Given the description of an element on the screen output the (x, y) to click on. 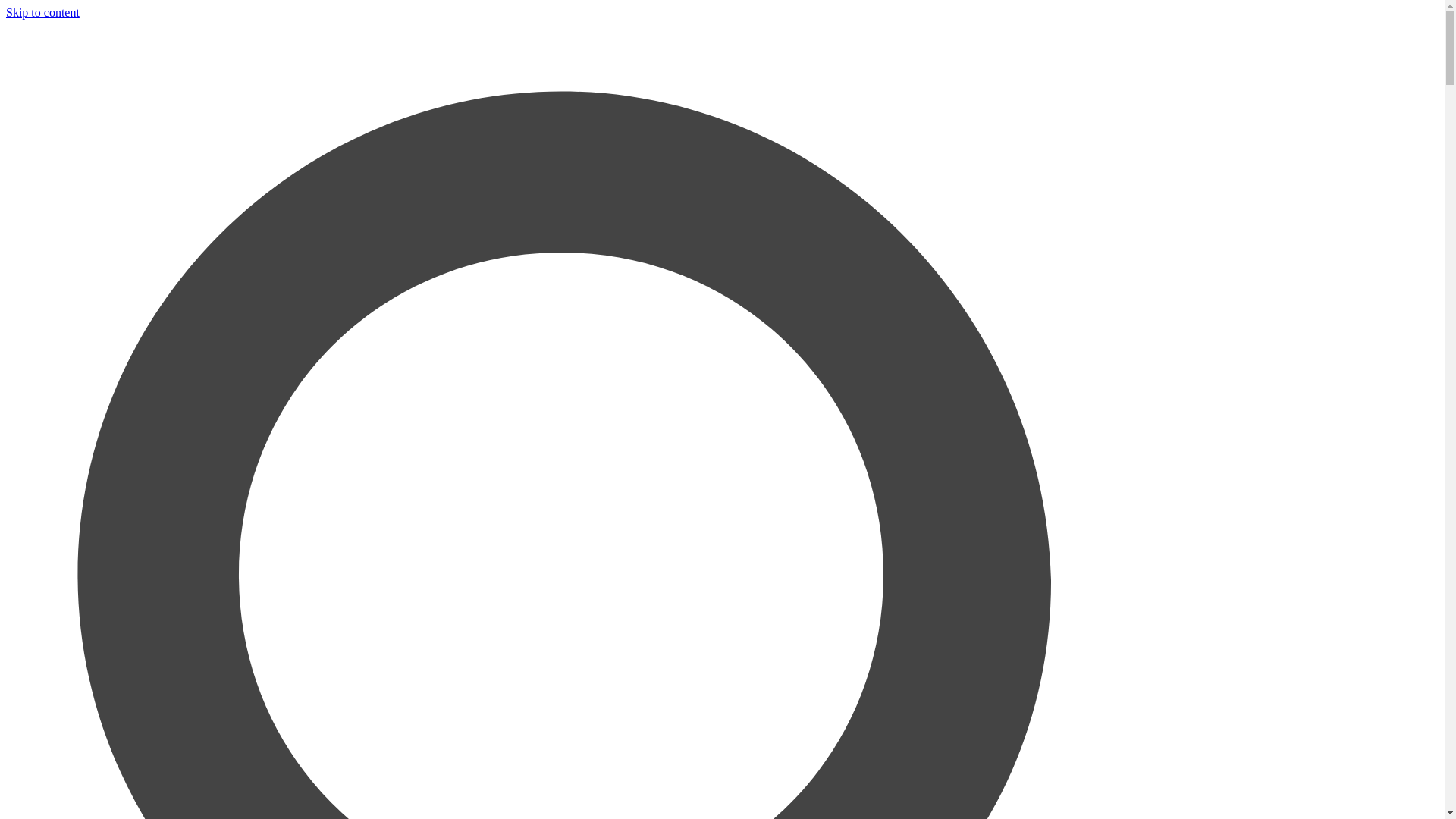
Skip to content Element type: text (42, 12)
